Given the description of an element on the screen output the (x, y) to click on. 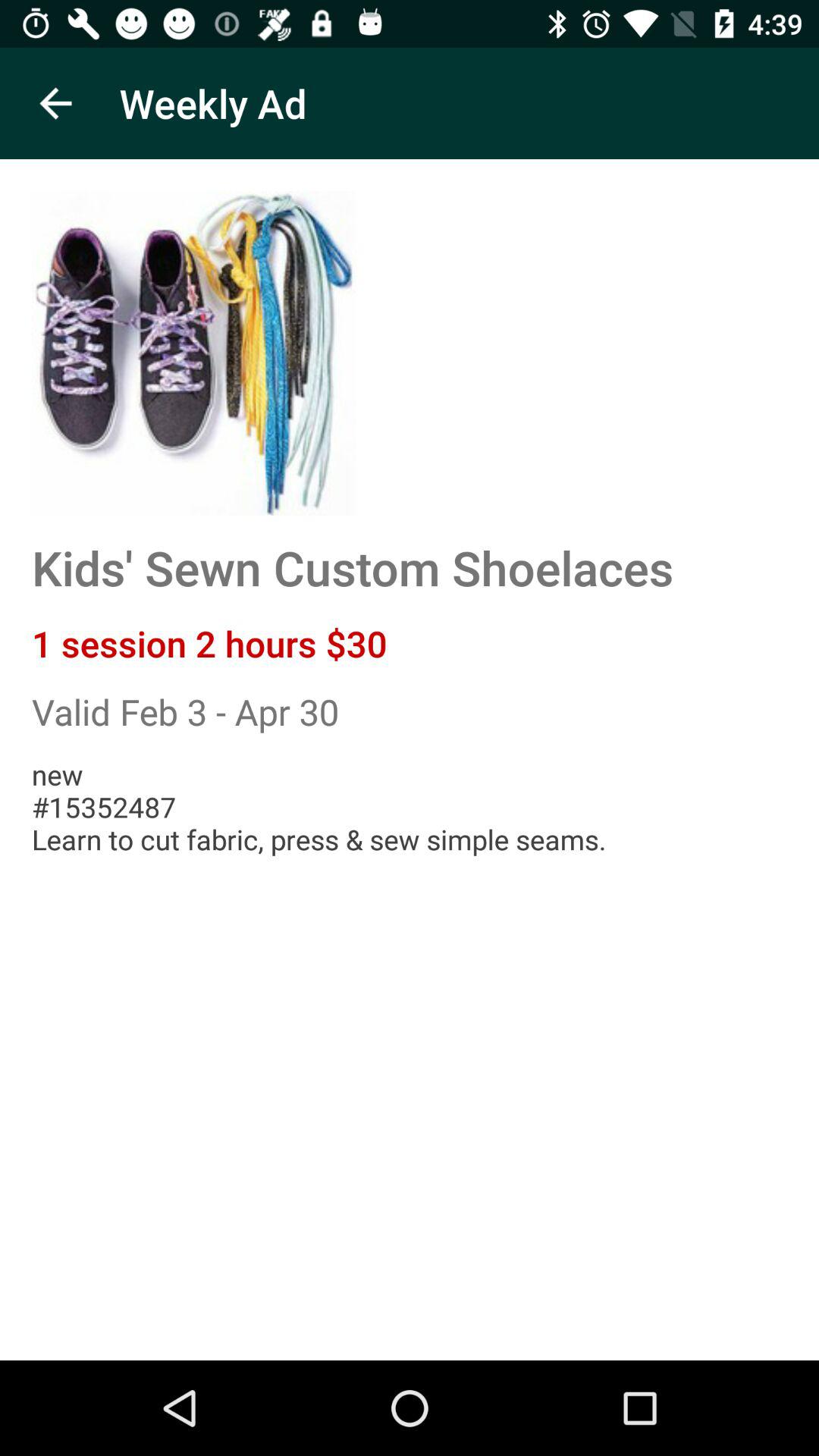
press icon to the left of weekly ad app (55, 103)
